Given the description of an element on the screen output the (x, y) to click on. 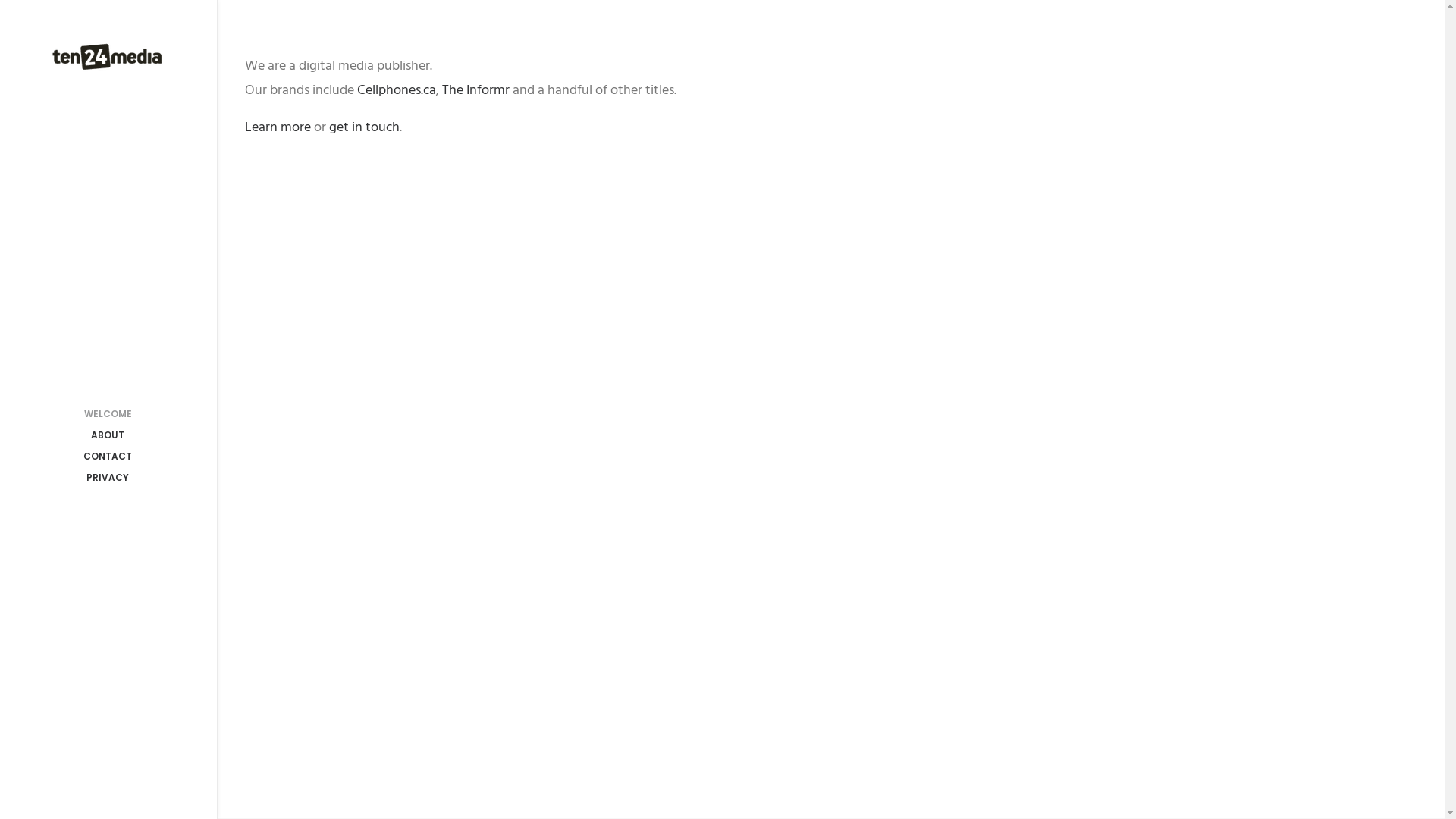
Learn more Element type: text (277, 127)
The Informr Element type: text (474, 89)
Cellphones.ca Element type: text (395, 89)
get in touch Element type: text (364, 127)
